Given the description of an element on the screen output the (x, y) to click on. 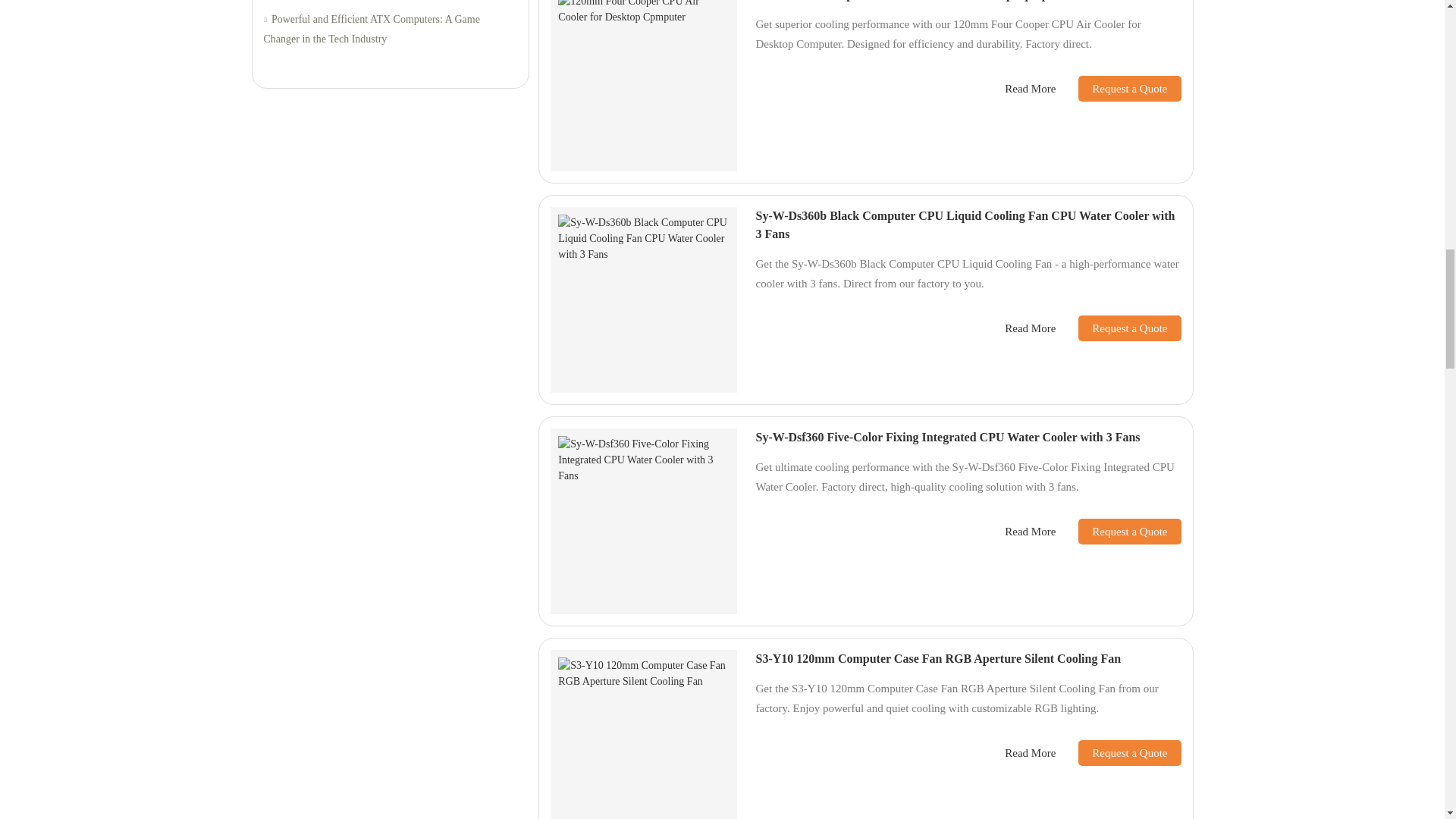
Key Considerations for Choosing the Right Computer Housing (389, 2)
